Given the description of an element on the screen output the (x, y) to click on. 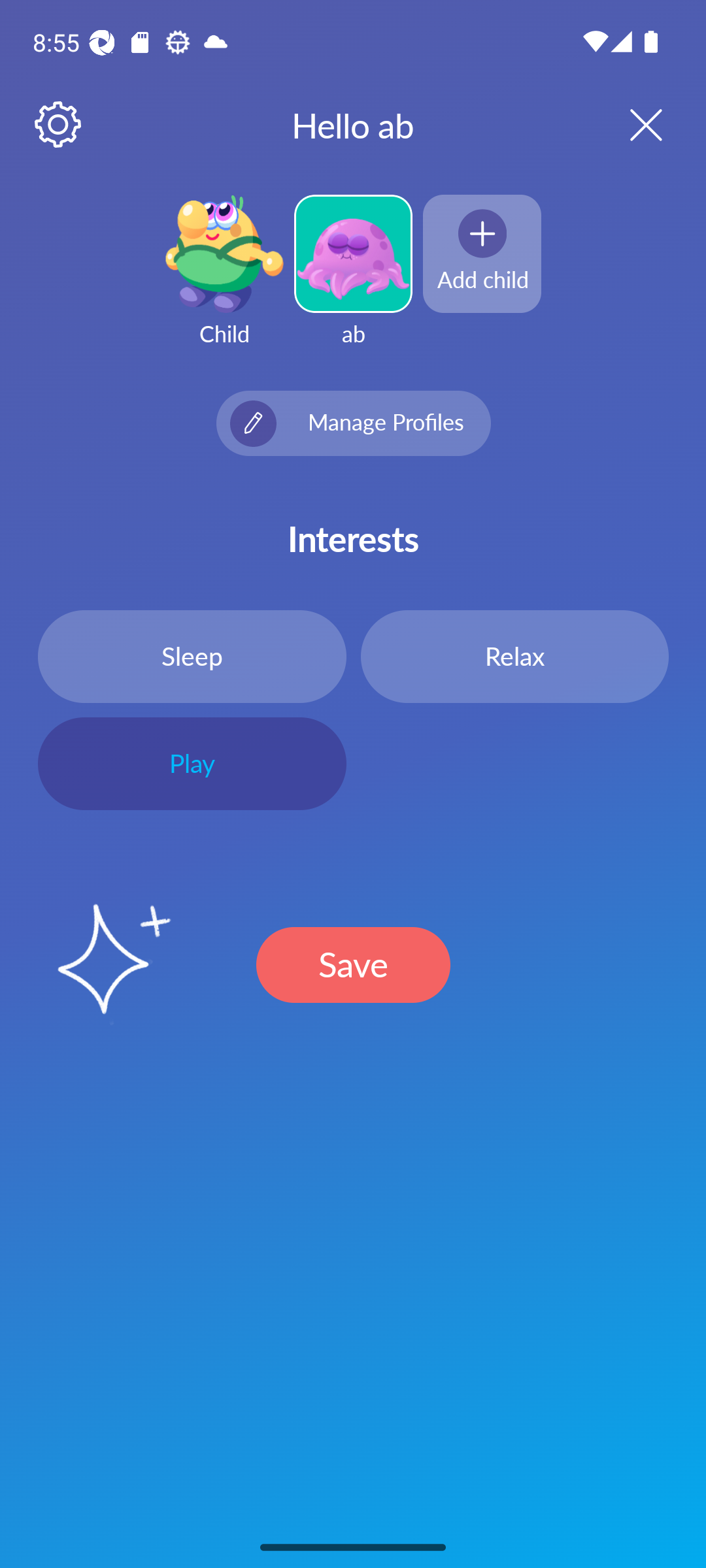
Close (629, 124)
Settings (58, 125)
Child (224, 282)
ab (353, 282)
Add child (481, 253)
icon Manage Profiles (353, 423)
Sleep (192, 655)
Relax (514, 655)
Play (192, 764)
Save (353, 964)
